Given the description of an element on the screen output the (x, y) to click on. 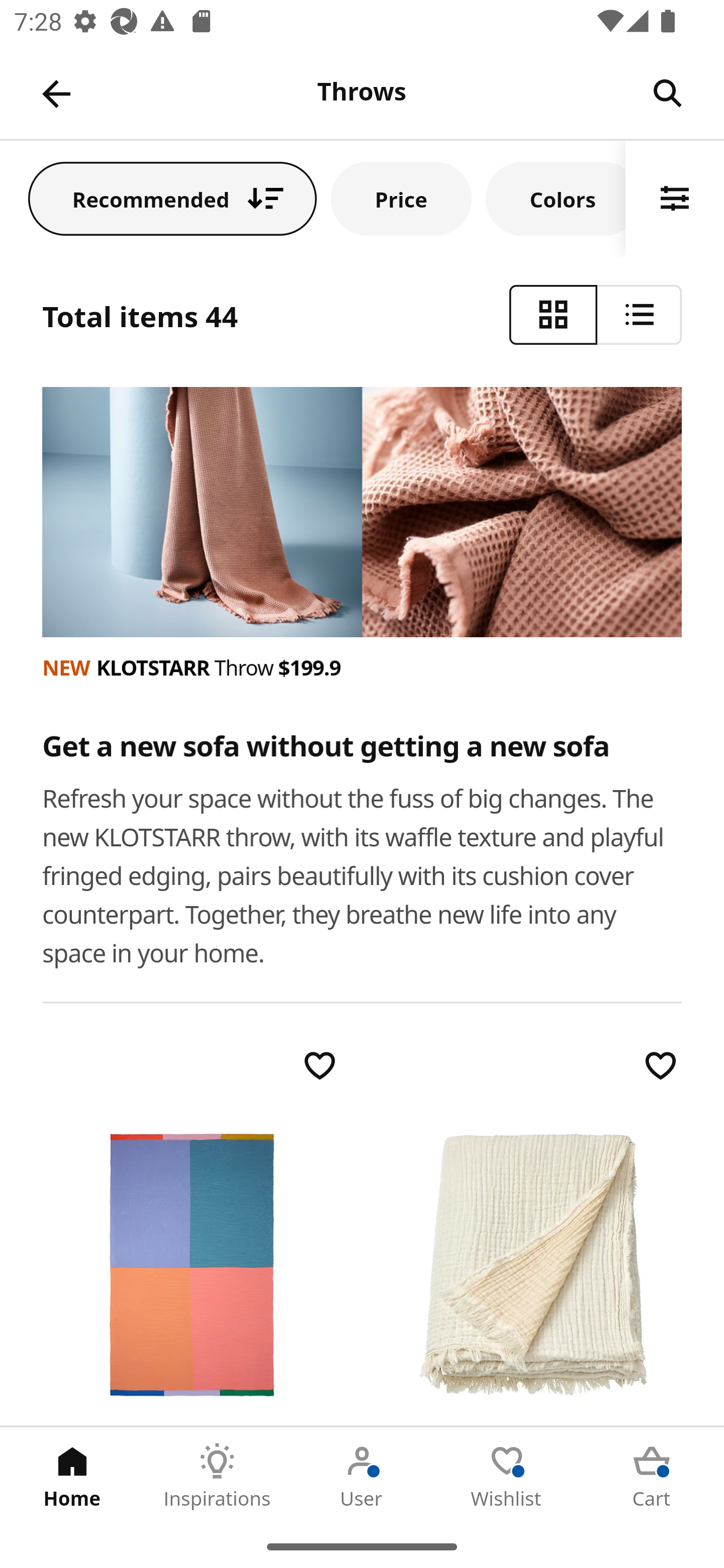
Recommended (172, 198)
Price (400, 198)
Colors (555, 198)
NEW KLOTSTARR Throw $199.9 (362, 667)
Home
Tab 1 of 5 (72, 1476)
Inspirations
Tab 2 of 5 (216, 1476)
User
Tab 3 of 5 (361, 1476)
Wishlist
Tab 4 of 5 (506, 1476)
Cart
Tab 5 of 5 (651, 1476)
